Given the description of an element on the screen output the (x, y) to click on. 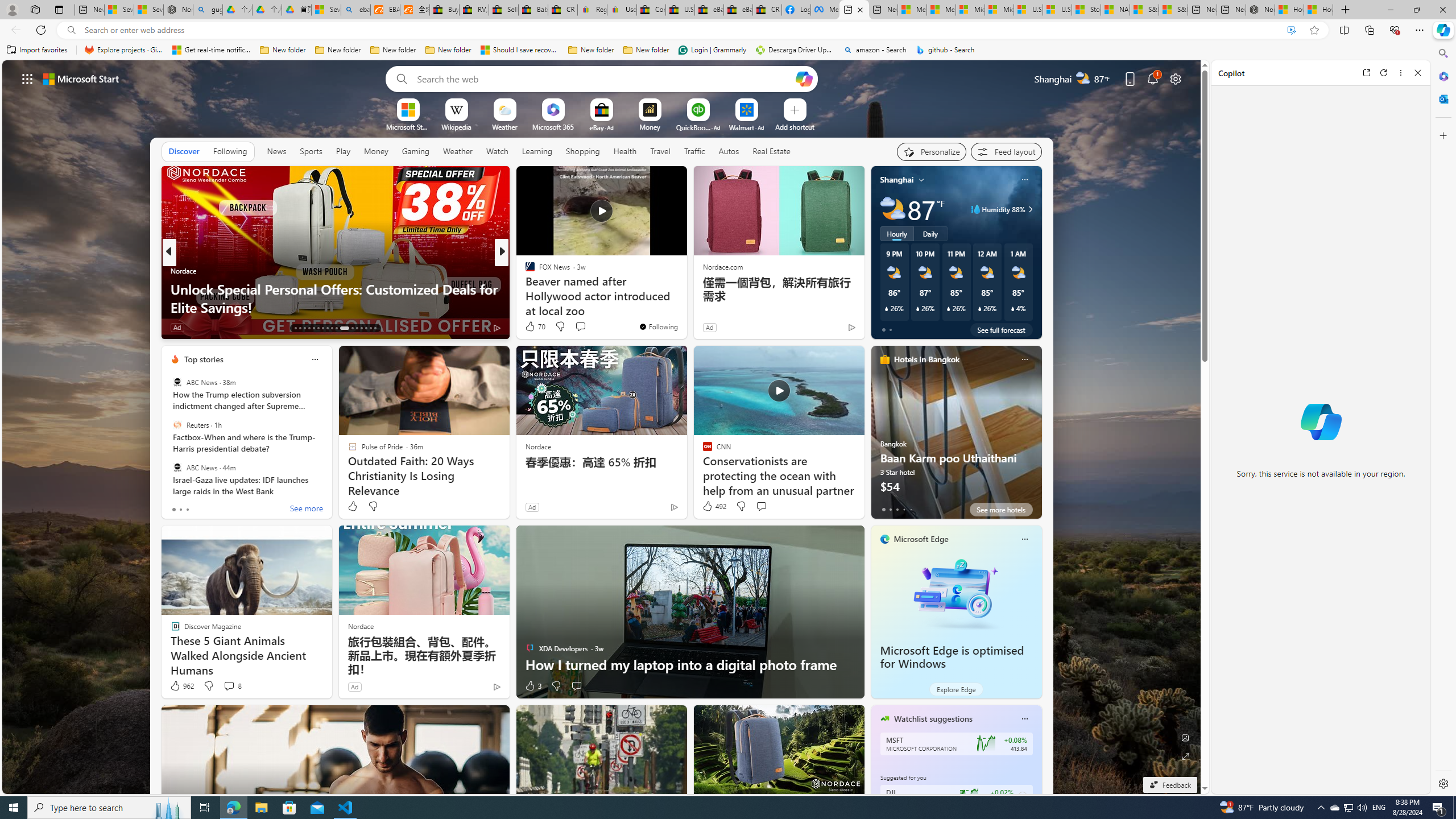
Money (375, 151)
Side bar (1443, 418)
Descarga Driver Updater (794, 49)
ABC News (176, 466)
Baby Keepsakes & Announcements for sale | eBay (533, 9)
492 Like (713, 505)
Settings (1442, 783)
See more hotels (1000, 509)
Start the conversation (576, 685)
